Given the description of an element on the screen output the (x, y) to click on. 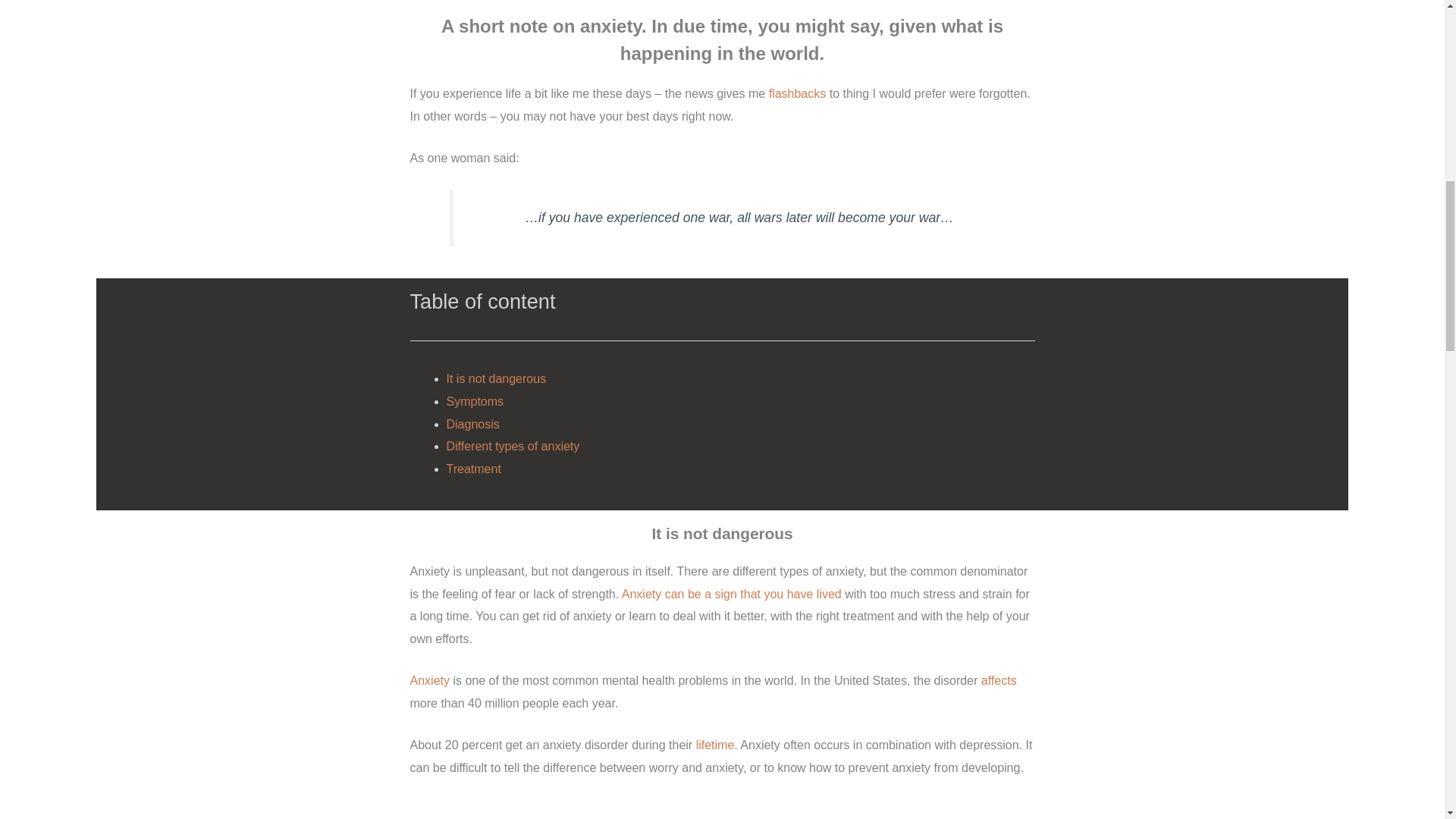
Diagnosis (472, 423)
flashbacks (797, 92)
Symptoms (474, 400)
It is not dangerous (495, 378)
